Given the description of an element on the screen output the (x, y) to click on. 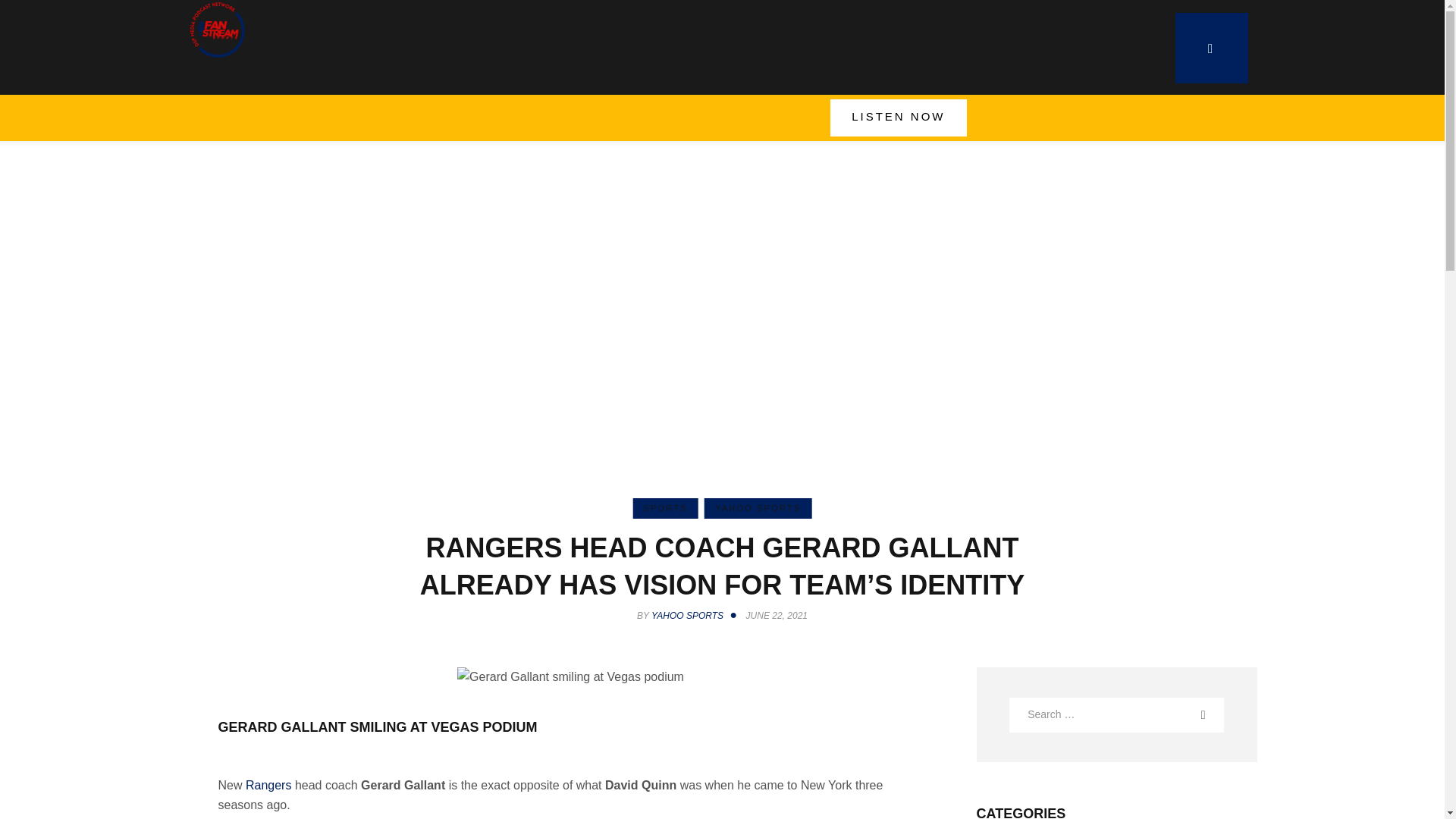
SPORTS (664, 507)
YAHOO SPORTS (757, 507)
BY YAHOO SPORTS (689, 615)
LISTEN NOW (897, 117)
